Given the description of an element on the screen output the (x, y) to click on. 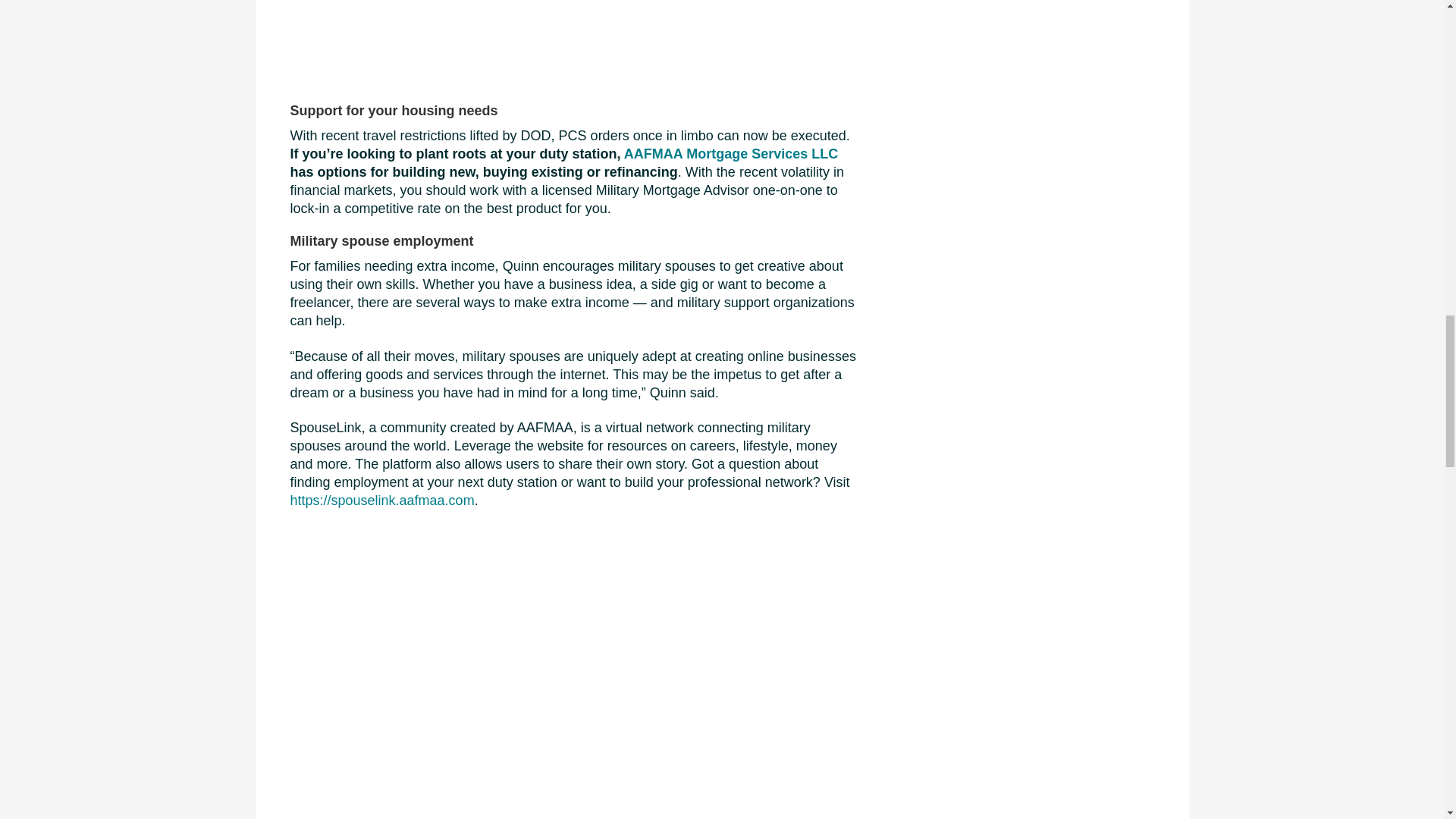
AAFMAA Mortgage Services LLC (731, 153)
